Given the description of an element on the screen output the (x, y) to click on. 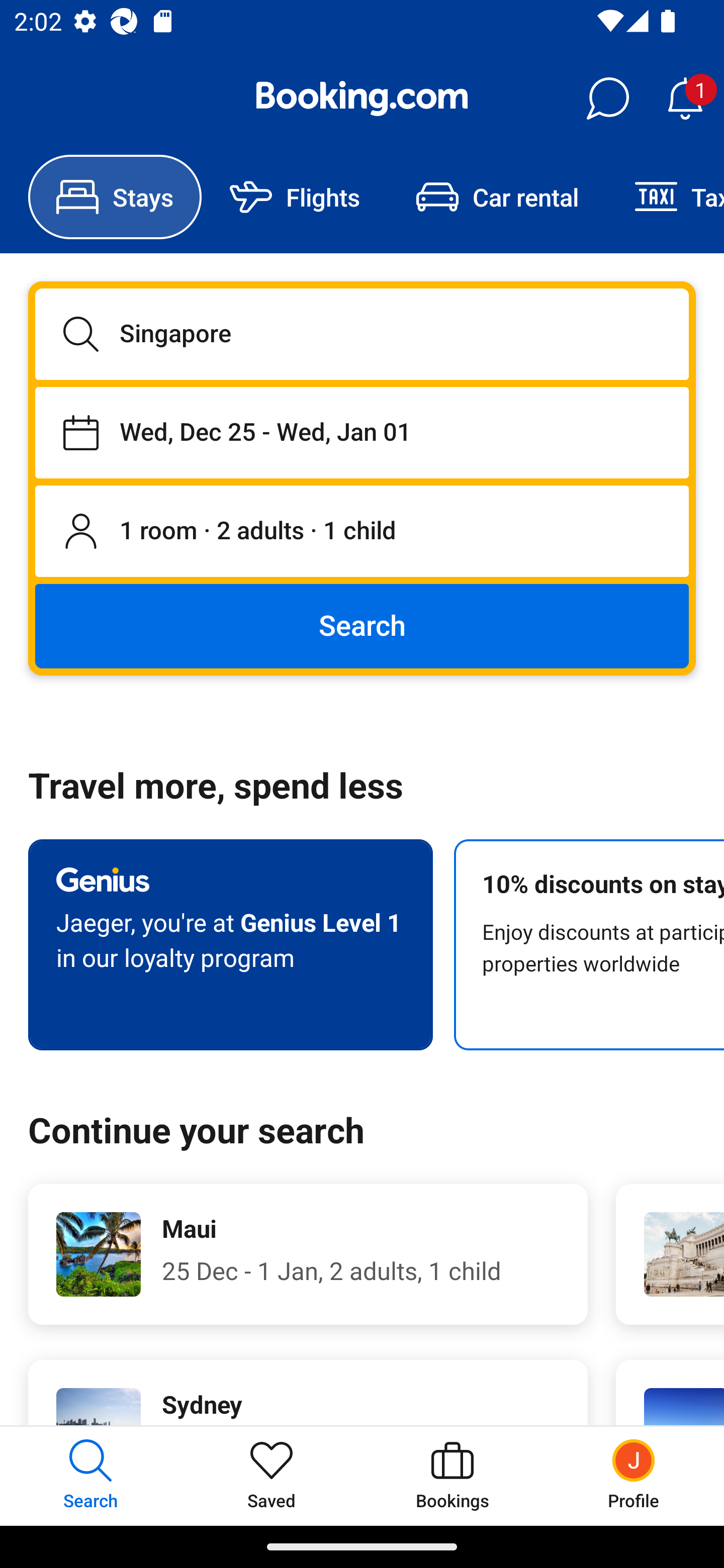
Messages (607, 98)
Notifications (685, 98)
Stays (114, 197)
Flights (294, 197)
Car rental (497, 197)
Taxi (665, 197)
Singapore (361, 333)
Staying from Wed, Dec 25 until Wed, Jan 01 (361, 432)
1 room, 2 adults, 1 child (361, 531)
Search (361, 625)
Maui 25 Dec - 1 Jan, 2 adults, 1 child (307, 1253)
Saved (271, 1475)
Bookings (452, 1475)
Profile (633, 1475)
